Given the description of an element on the screen output the (x, y) to click on. 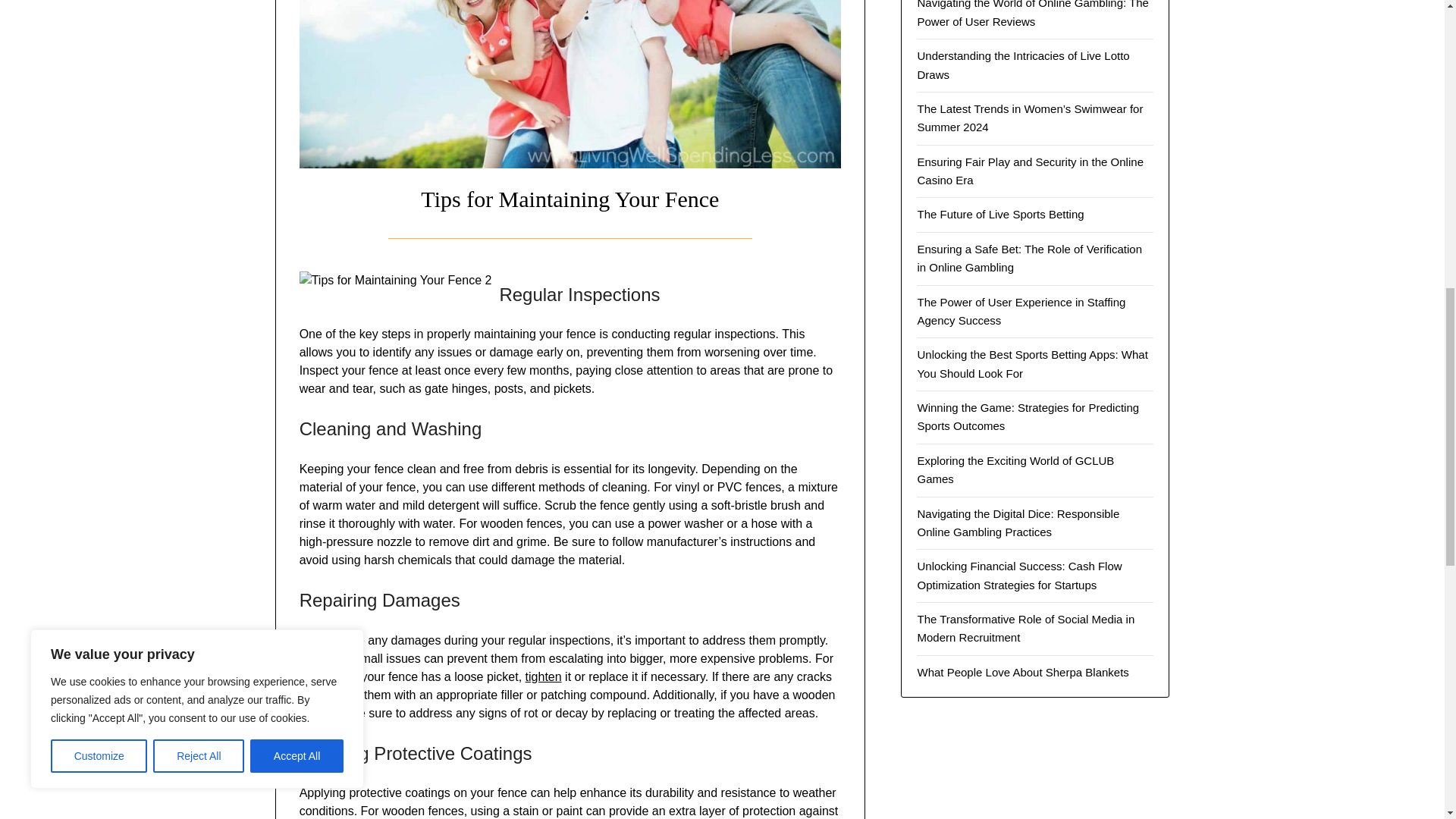
Ensuring Fair Play and Security in the Online Casino Era (1029, 170)
The Future of Live Sports Betting (1000, 214)
Understanding the Intricacies of Live Lotto Draws (1023, 64)
The Power of User Experience in Staffing Agency Success (1021, 310)
Exploring the Exciting World of GCLUB Games (1015, 469)
tighten (543, 676)
Winning the Game: Strategies for Predicting Sports Outcomes (1027, 416)
